Given the description of an element on the screen output the (x, y) to click on. 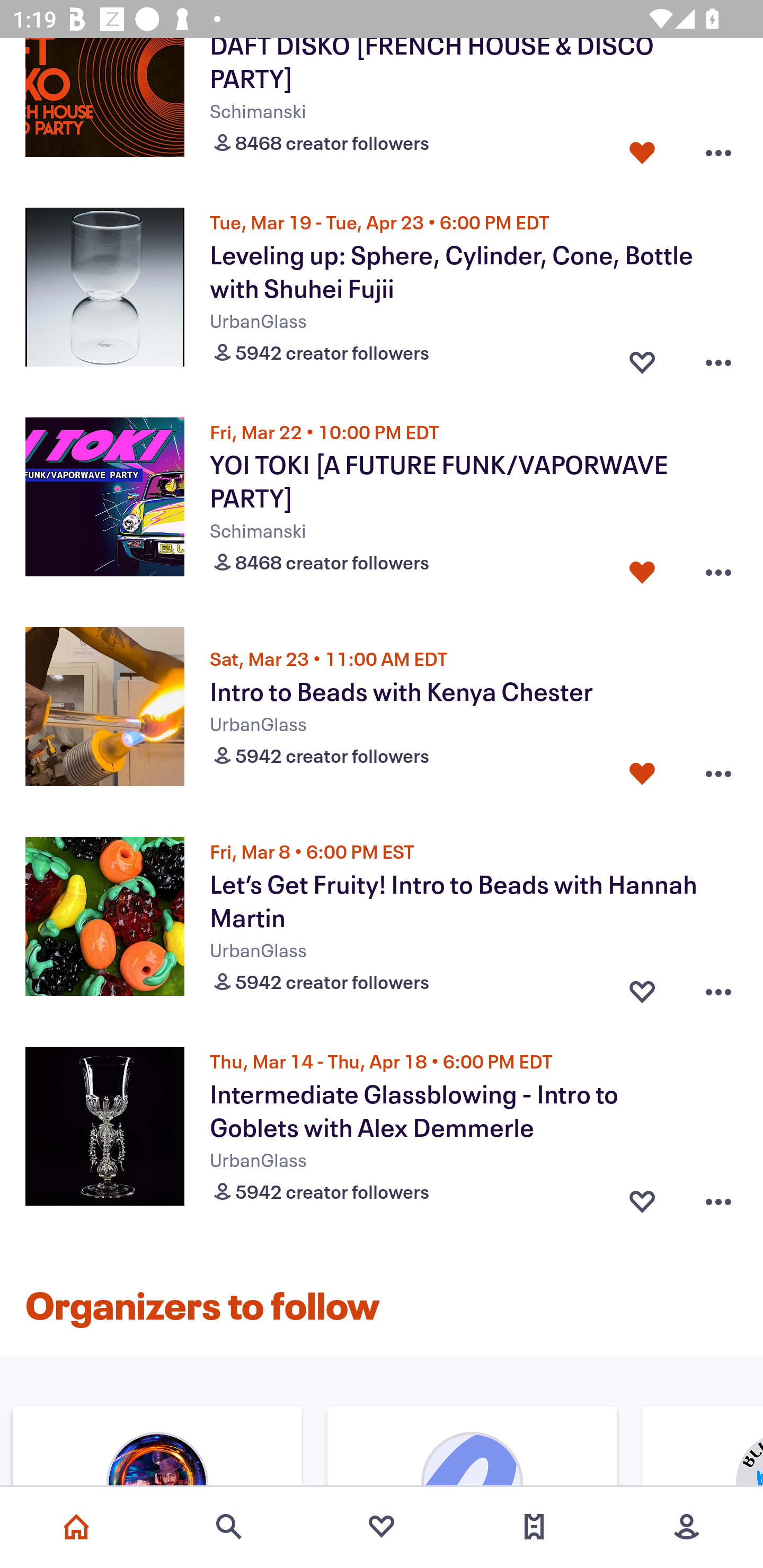
Favorite button (642, 147)
Overflow menu button (718, 147)
Favorite button (642, 358)
Overflow menu button (718, 358)
Favorite button (642, 568)
Overflow menu button (718, 568)
Favorite button (642, 773)
Overflow menu button (718, 773)
Favorite button (642, 986)
Overflow menu button (718, 986)
Favorite button (642, 1196)
Overflow menu button (718, 1196)
Home (76, 1526)
Search events (228, 1526)
Favorites (381, 1526)
Tickets (533, 1526)
More (686, 1526)
